Given the description of an element on the screen output the (x, y) to click on. 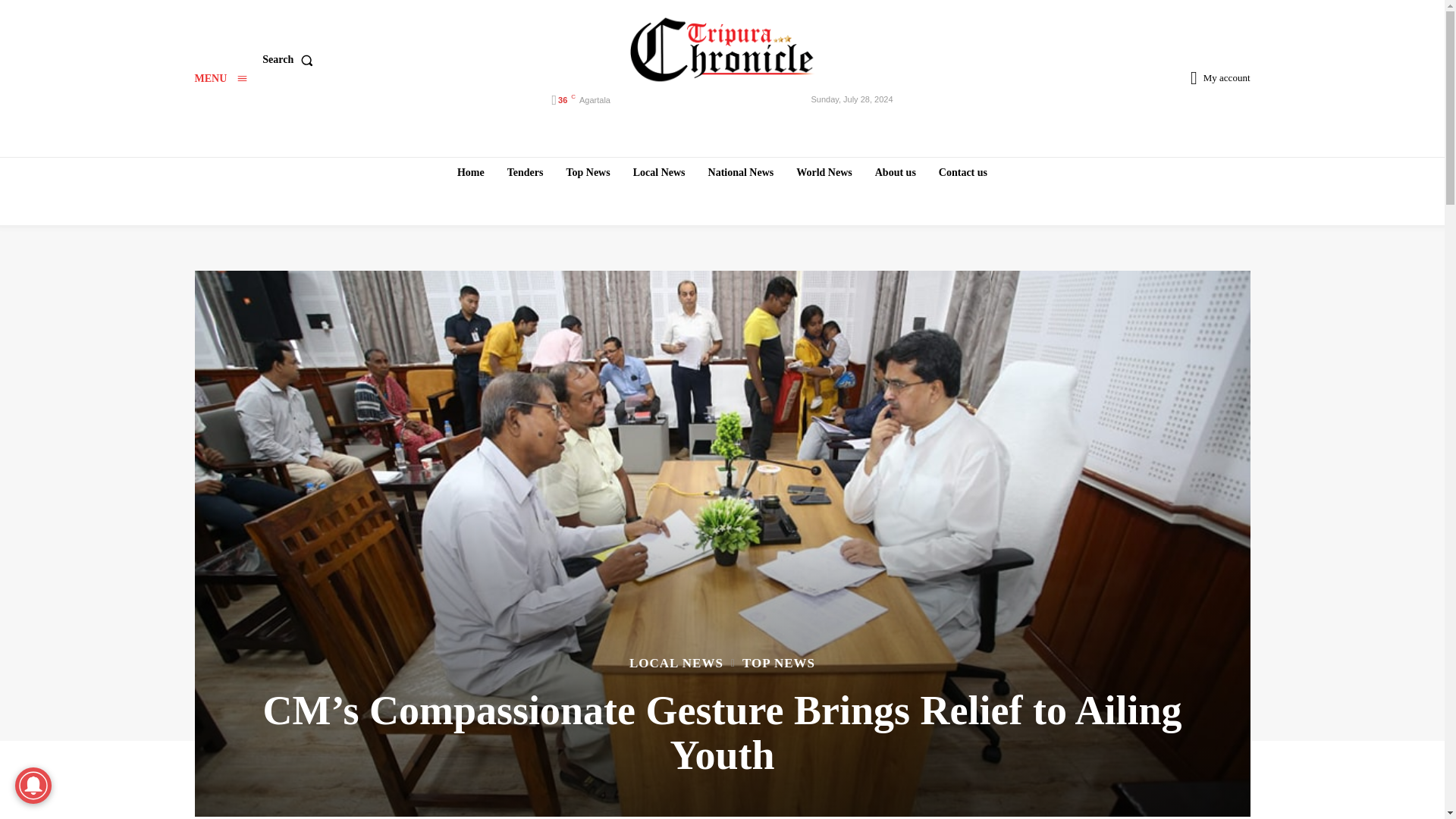
Local News (659, 172)
World News (824, 172)
Top News (587, 172)
Search (290, 60)
Tenders (525, 172)
National News (740, 172)
Home (470, 172)
Menu (220, 78)
MENU (220, 78)
